Given the description of an element on the screen output the (x, y) to click on. 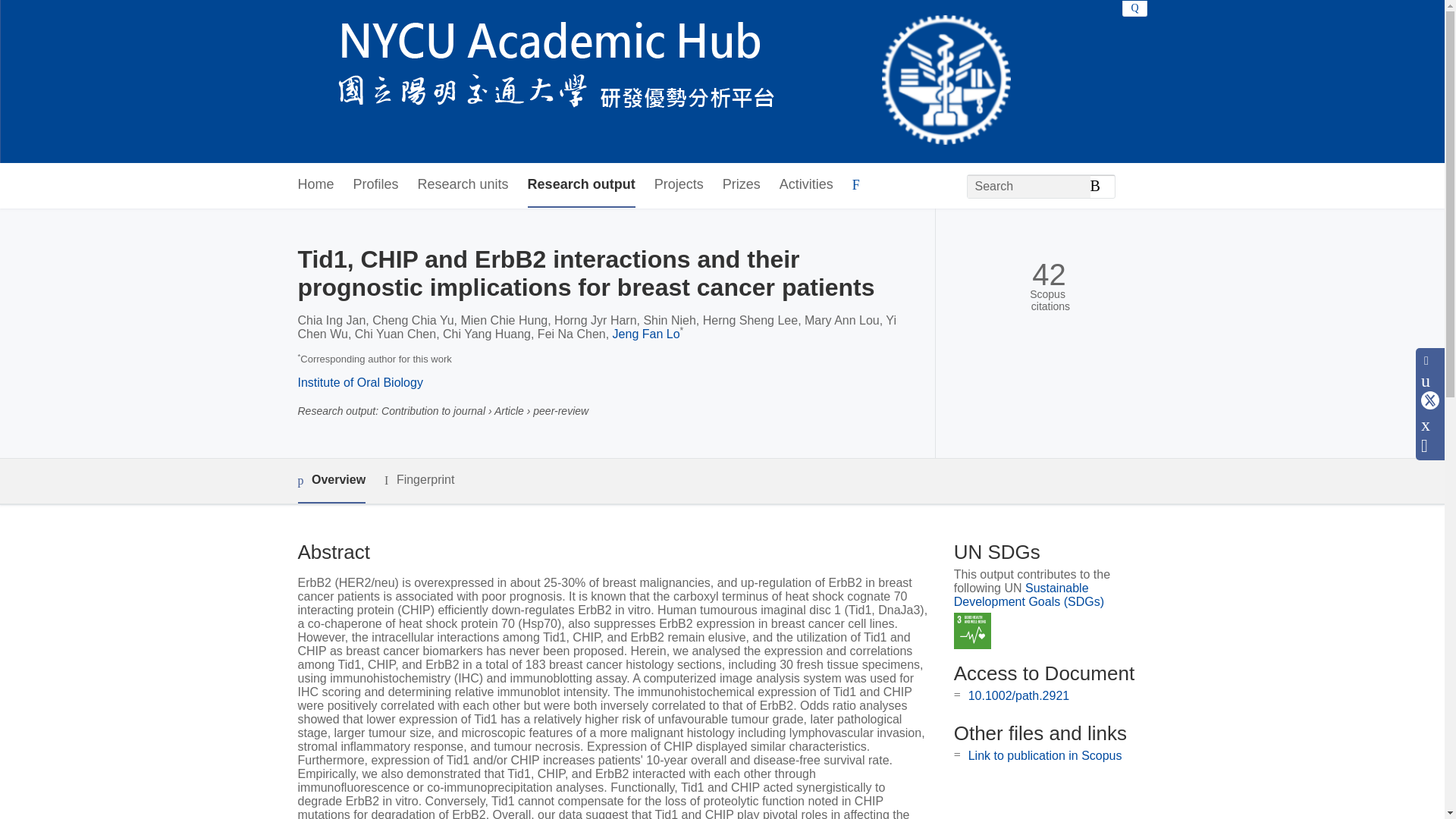
Institute of Oral Biology (359, 382)
Fingerprint (419, 480)
Overview (331, 480)
Projects (678, 185)
Research output (580, 185)
Activities (805, 185)
Link to publication in Scopus (1045, 755)
National Yang Ming Chiao Tung University Academic Hub Home (653, 81)
Jeng Fan Lo (645, 333)
SDG 3 - Good Health and Well-being (972, 631)
Profiles (375, 185)
Research units (462, 185)
